Given the description of an element on the screen output the (x, y) to click on. 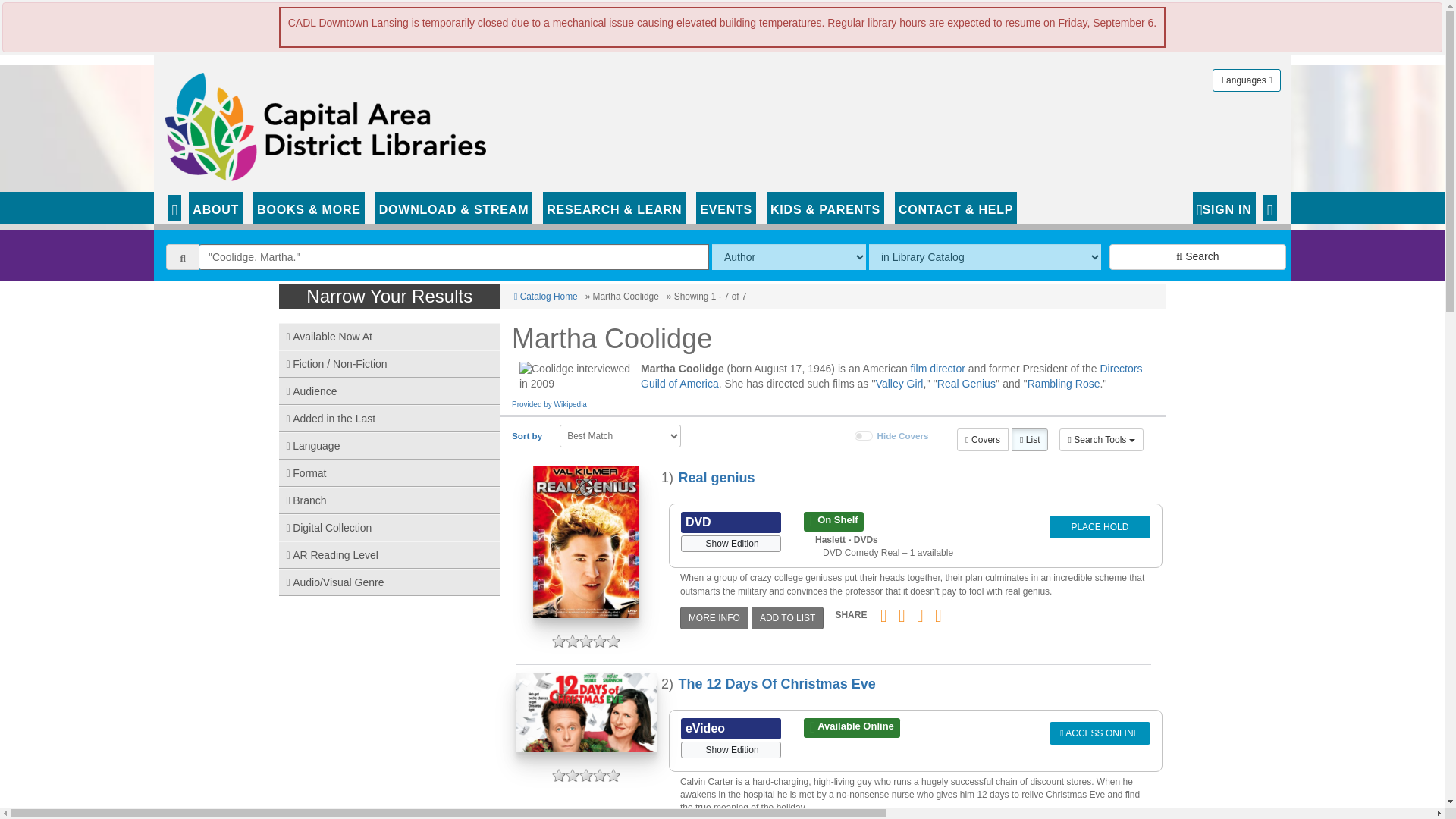
Languages  (1245, 79)
"Coolidge, Martha." (454, 257)
Library Home Page (328, 122)
on (863, 435)
ABOUT (216, 207)
EVENTS (725, 207)
